Given the description of an element on the screen output the (x, y) to click on. 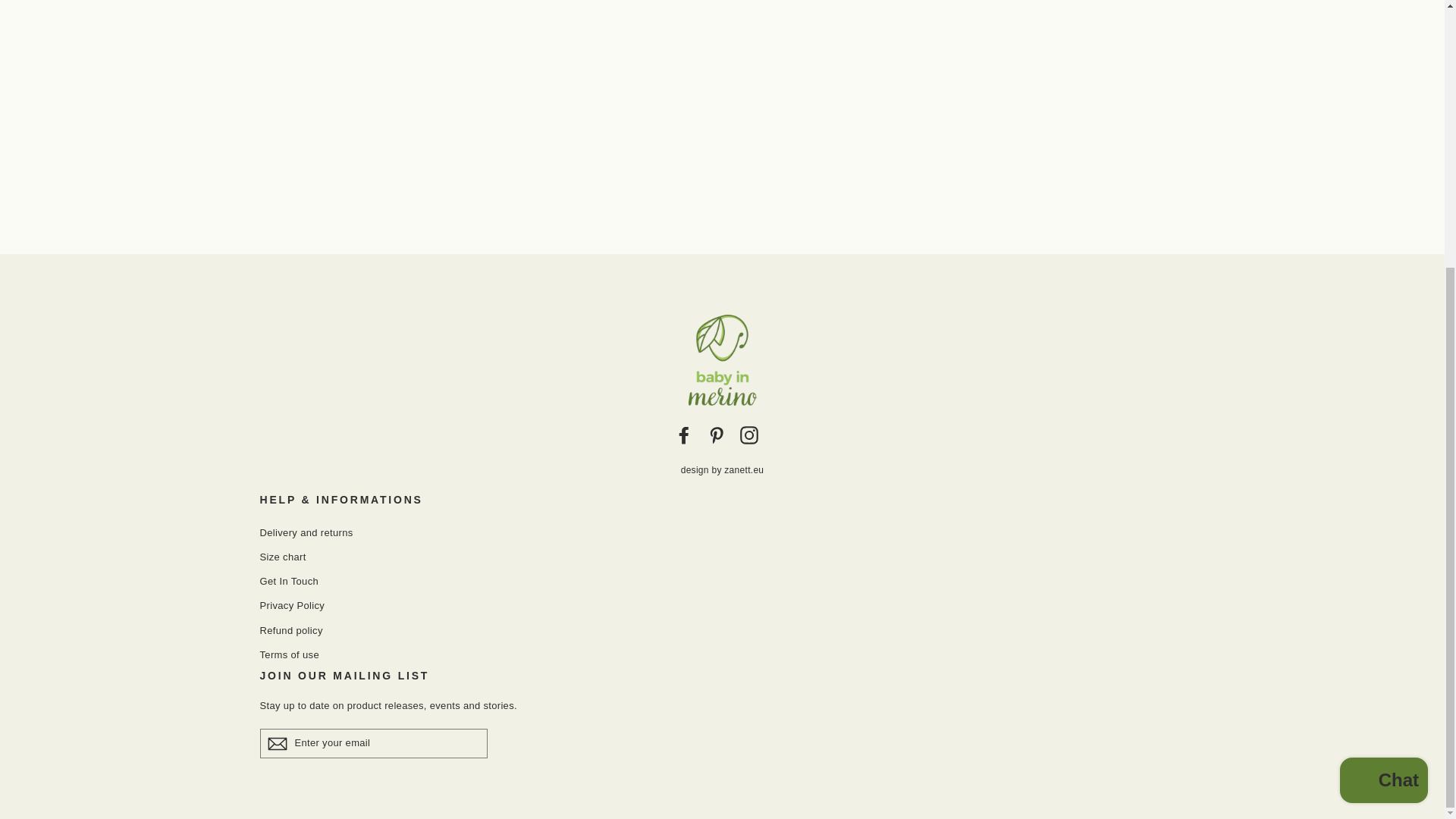
Baby in Merino on Pinterest (716, 434)
Baby in Merino on Facebook (684, 434)
Shopify online store chat (1383, 392)
Baby in Merino on Instagram (748, 434)
